Given the description of an element on the screen output the (x, y) to click on. 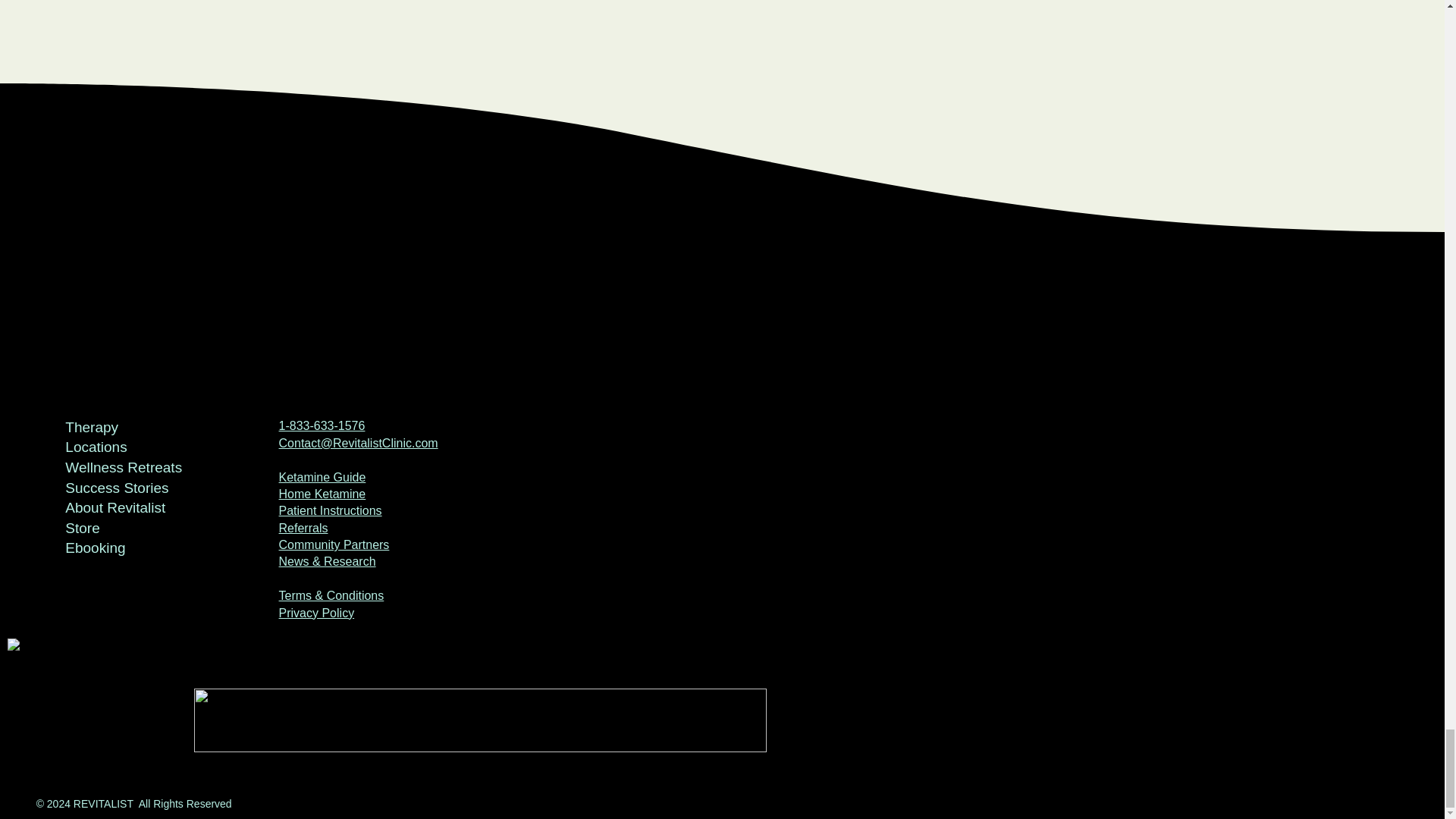
Locations (128, 447)
Success Stories (128, 488)
About Revitalist (128, 507)
Therapy (128, 427)
Ebooking (128, 548)
Store (128, 528)
Wellness Retreats (128, 467)
